Given the description of an element on the screen output the (x, y) to click on. 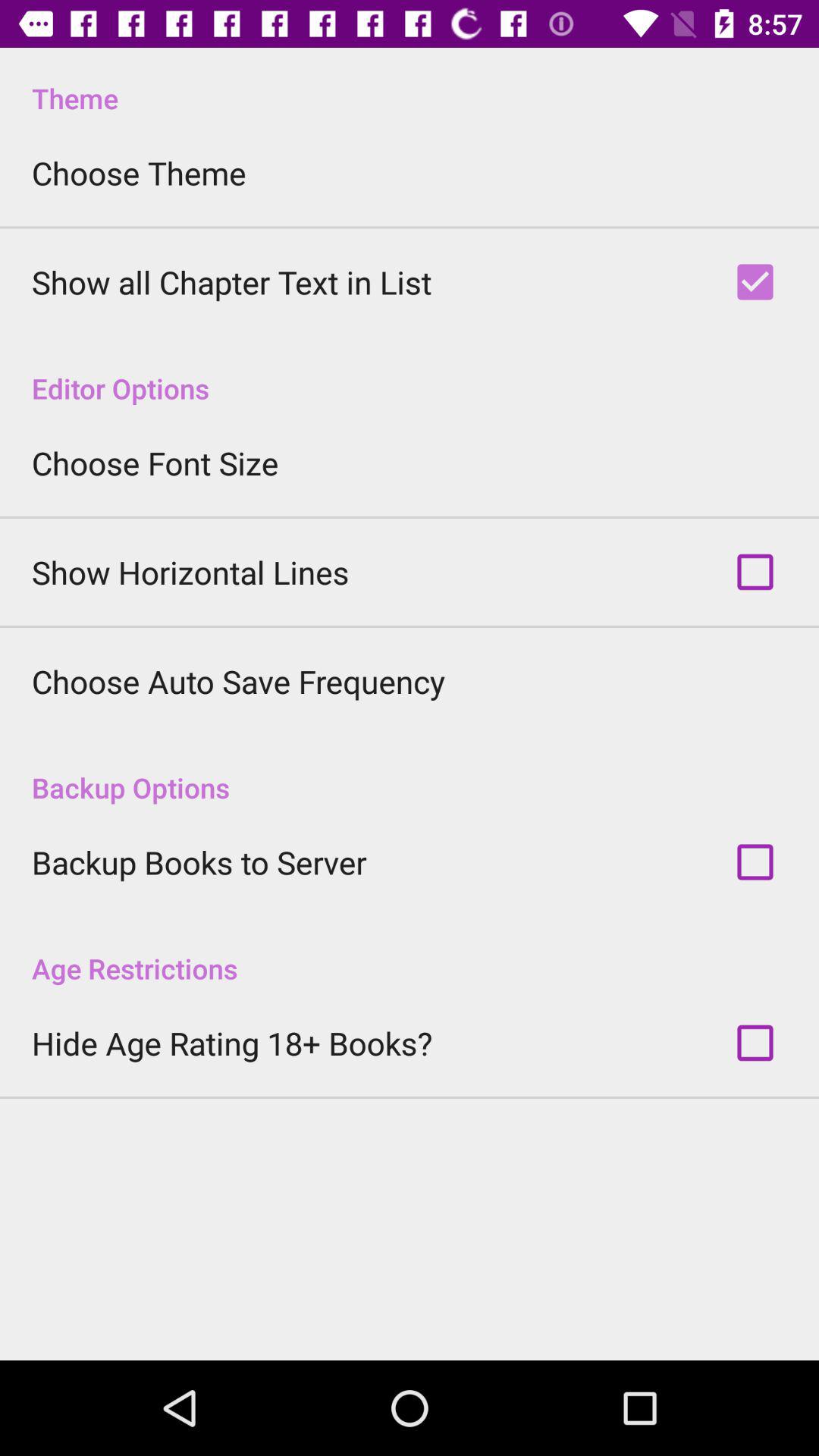
click backup options (409, 771)
